Given the description of an element on the screen output the (x, y) to click on. 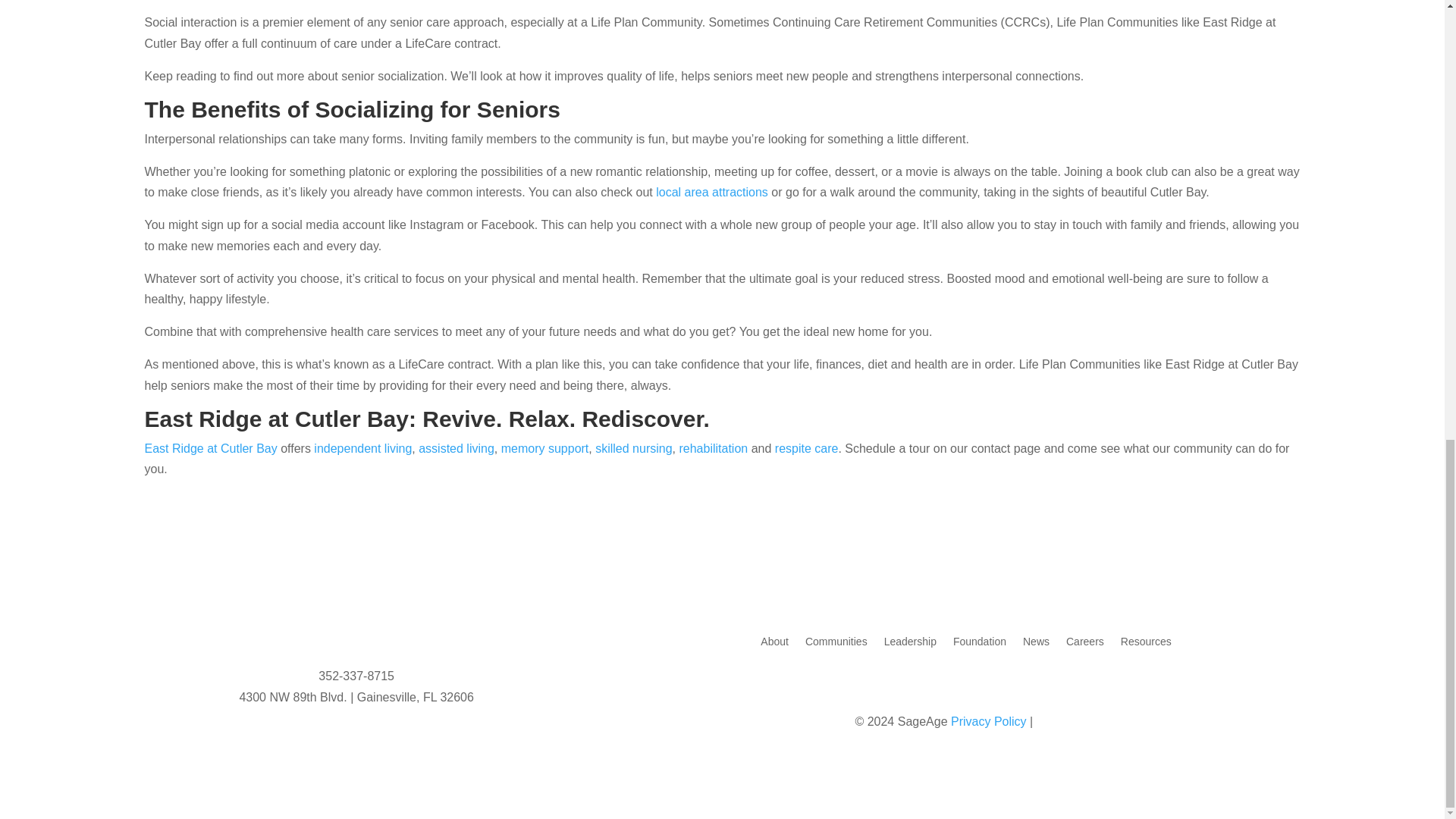
assisted living (457, 448)
East Ridge at Cutler Bay (210, 448)
local area attractions (712, 192)
respite care (806, 448)
independent living (363, 448)
memory support (544, 448)
rehabilitation (713, 448)
skilled nursing (633, 448)
